Given the description of an element on the screen output the (x, y) to click on. 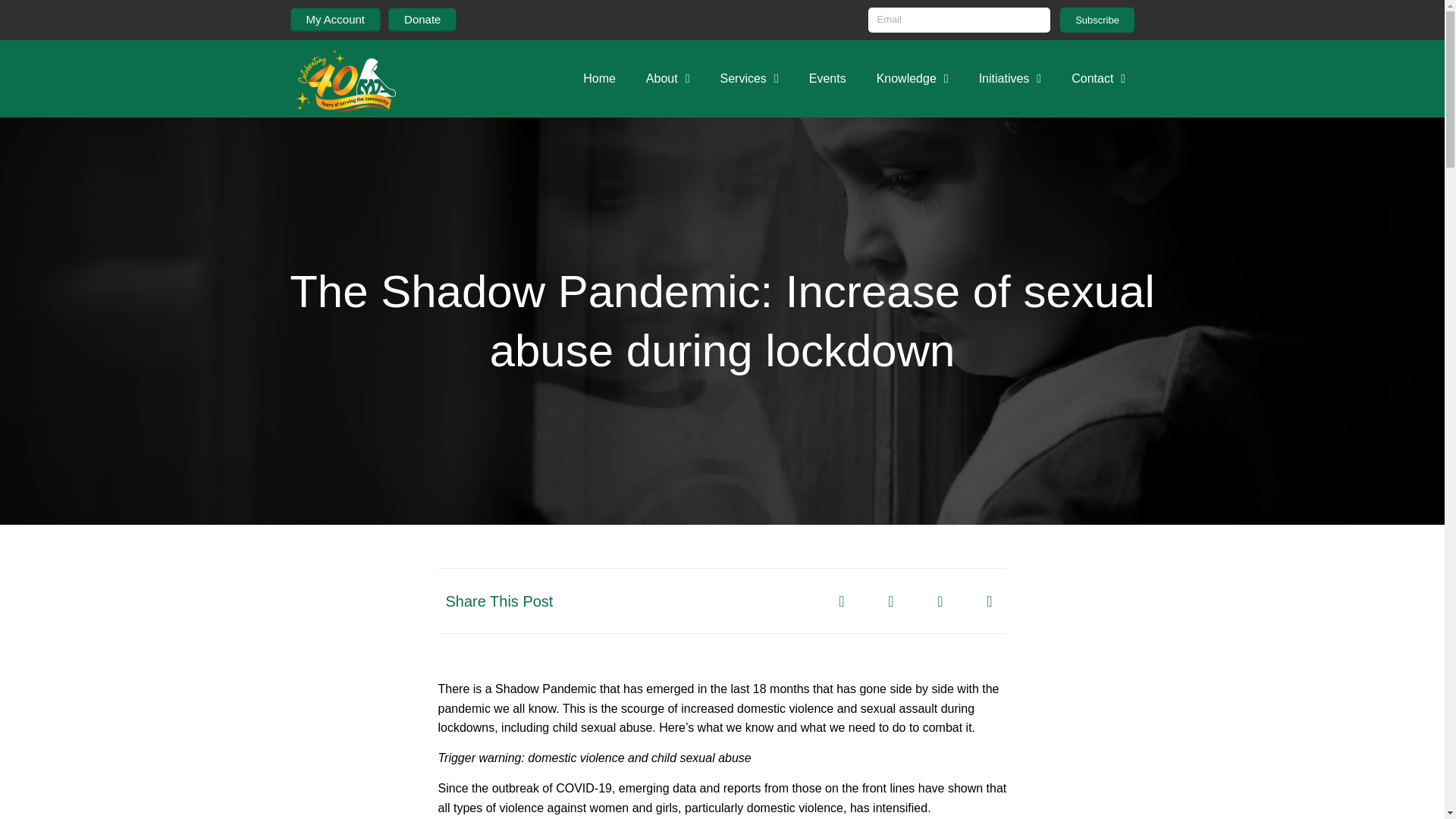
Initiatives (1010, 78)
Knowledge (912, 78)
Contact (1098, 78)
Events (827, 78)
Services (748, 78)
Subscribe (1096, 19)
Donate (422, 19)
About (667, 78)
My Account (334, 19)
Home (598, 78)
